Given the description of an element on the screen output the (x, y) to click on. 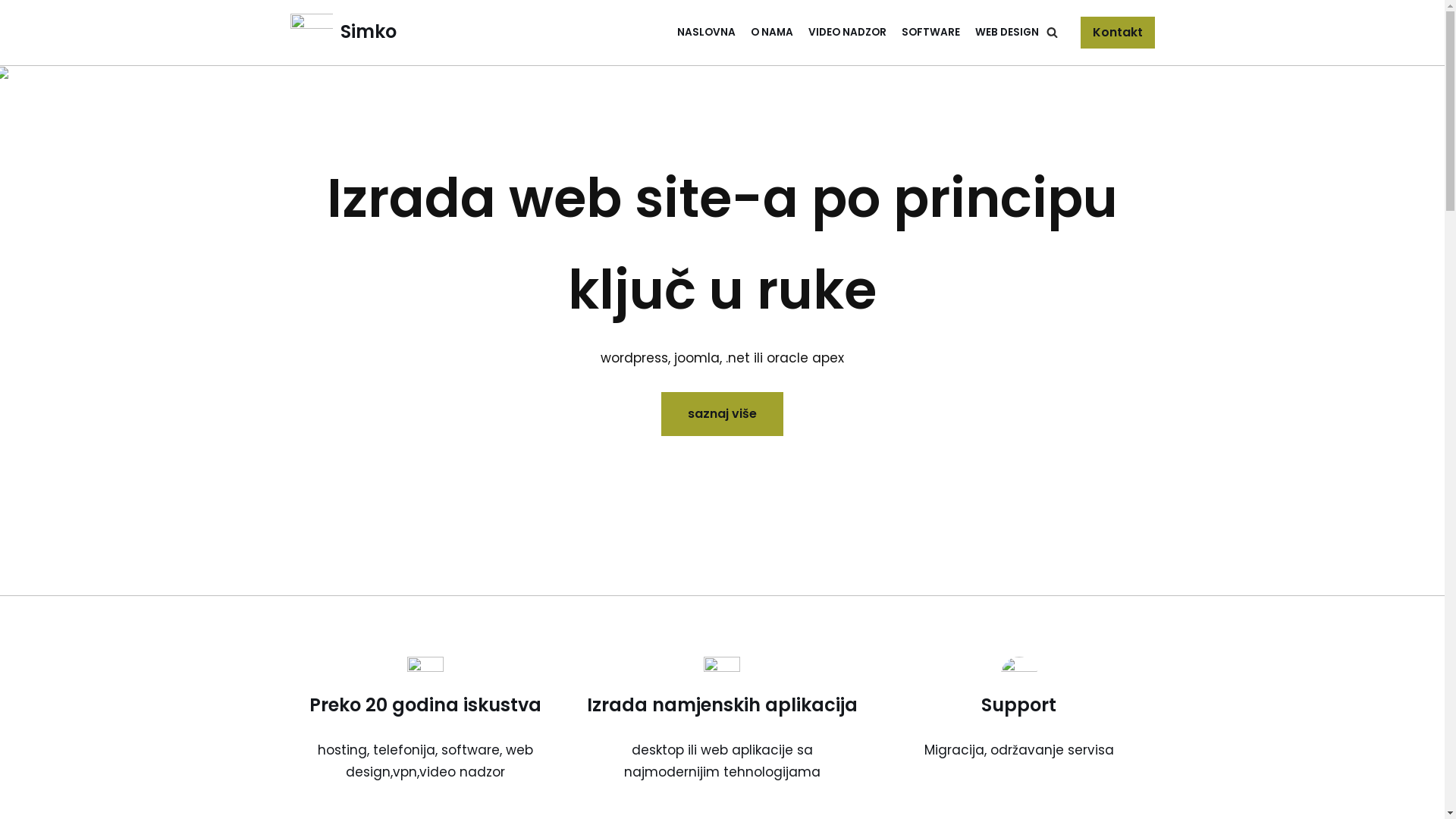
VIDEO NADZOR Element type: text (847, 31)
SOFTWARE Element type: text (929, 31)
Simko Element type: text (342, 32)
Kontakt Element type: text (1116, 32)
O NAMA Element type: text (771, 31)
WEB DESIGN Element type: text (1006, 31)
Skip to content Element type: text (11, 31)
NASLOVNA Element type: text (705, 31)
